Given the description of an element on the screen output the (x, y) to click on. 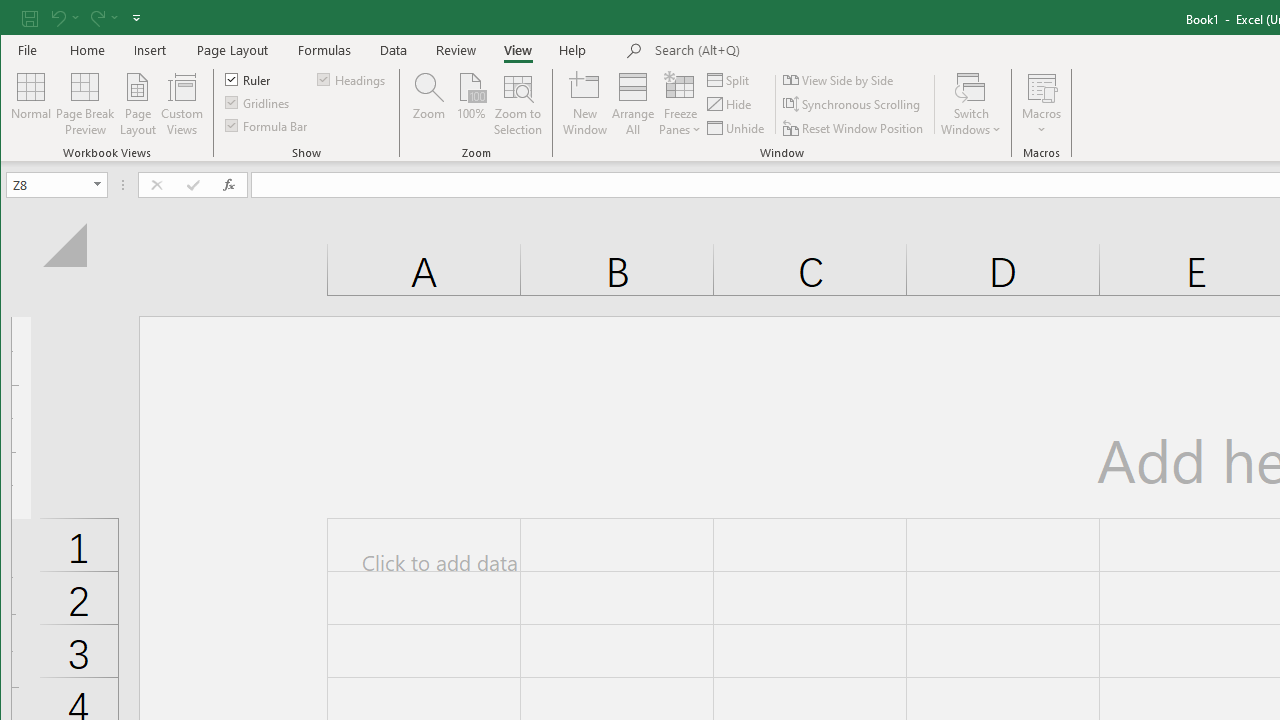
View Macros (1041, 86)
Zoom to Selection (518, 104)
Synchronous Scrolling (852, 103)
100% (470, 104)
View Side by Side (839, 80)
Unhide... (737, 127)
